Given the description of an element on the screen output the (x, y) to click on. 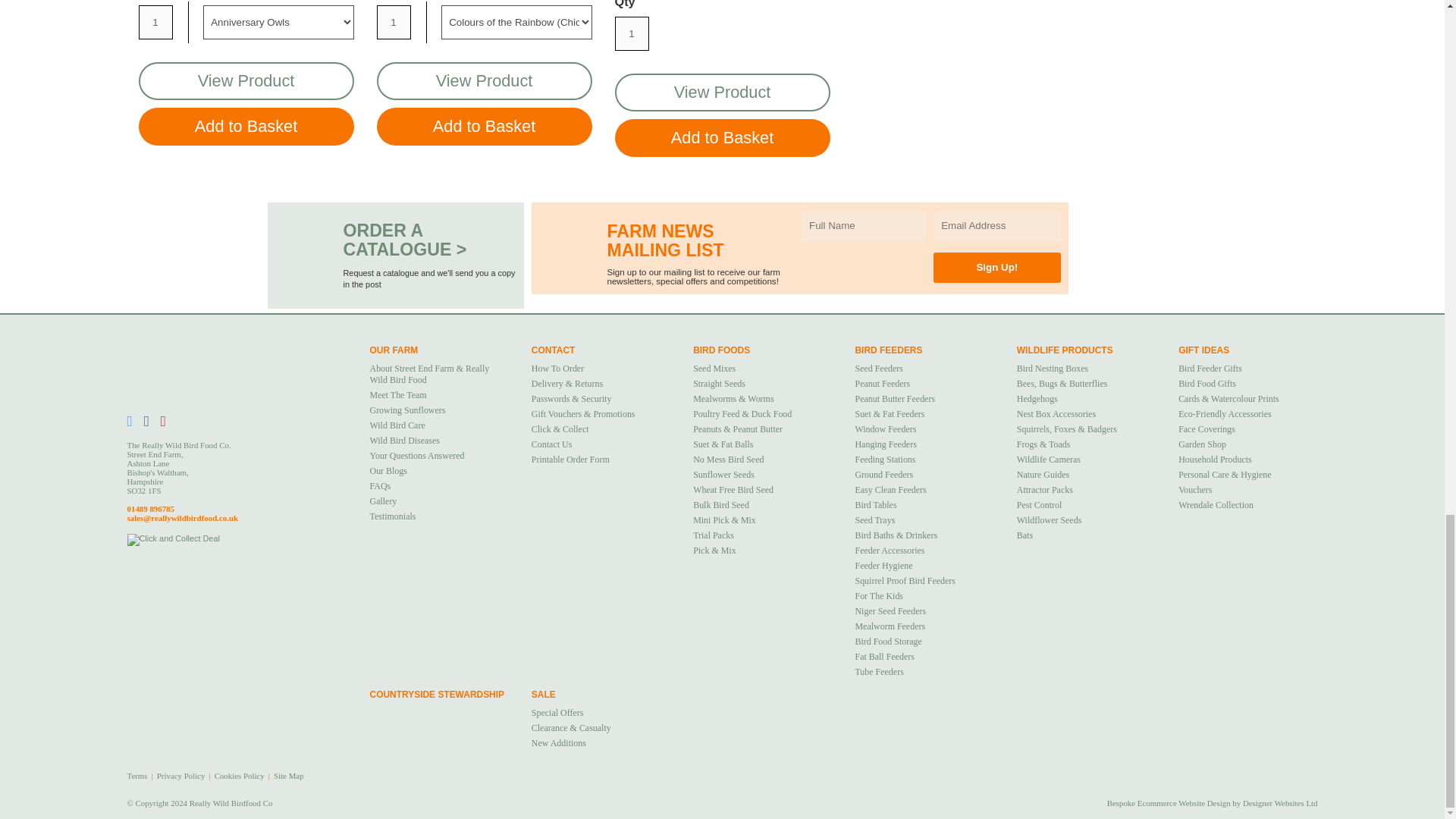
1 (392, 21)
Add to Basket (483, 126)
1 (630, 33)
Add to Basket (721, 137)
Add to Basket (245, 126)
Sign Up! (996, 267)
1 (154, 21)
